Given the description of an element on the screen output the (x, y) to click on. 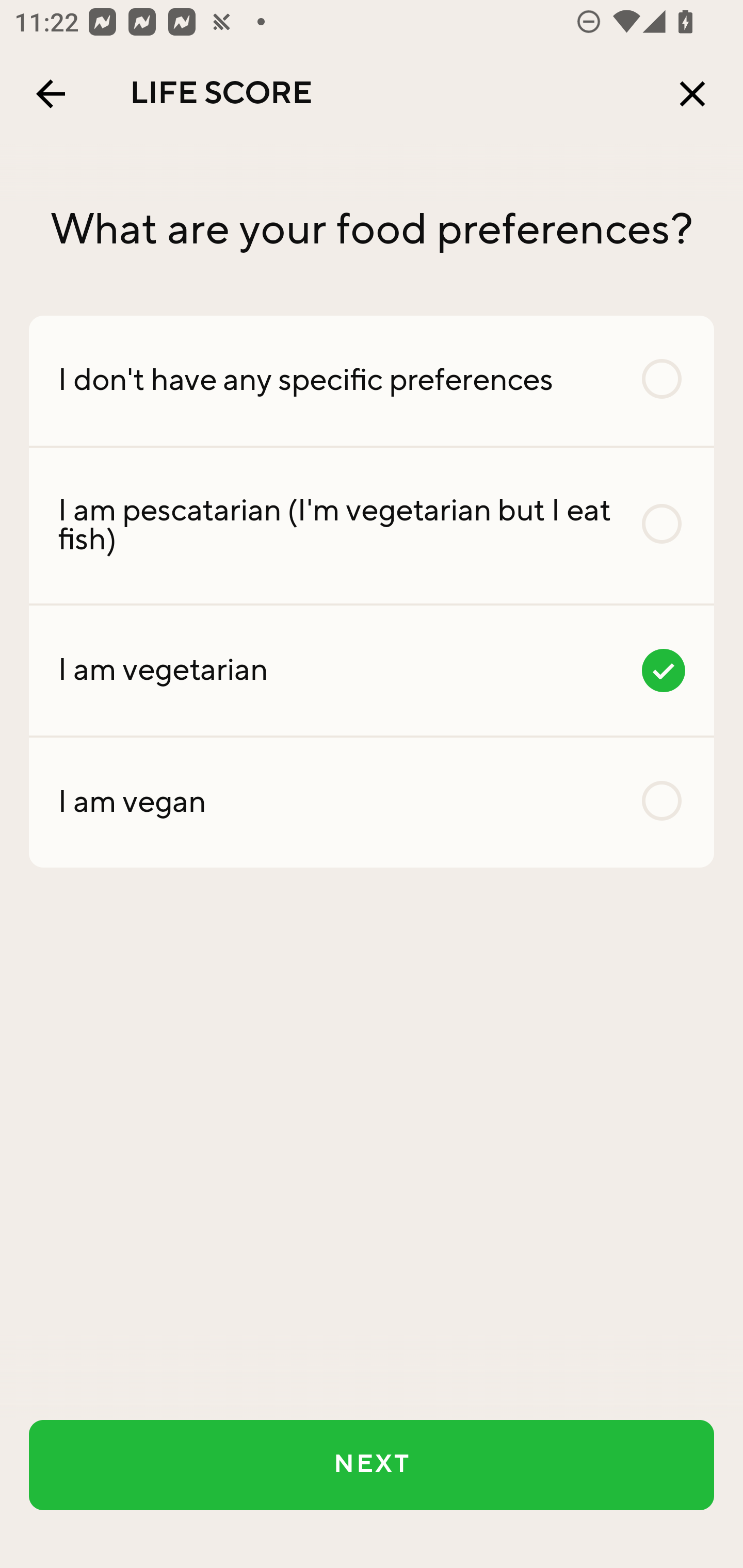
I don't have any specific preferences (371, 380)
I am pescatarian (I'm vegetarian but I eat fish) (371, 525)
I am vegetarian (371, 670)
I am vegan (371, 801)
NEXT (371, 1464)
